Given the description of an element on the screen output the (x, y) to click on. 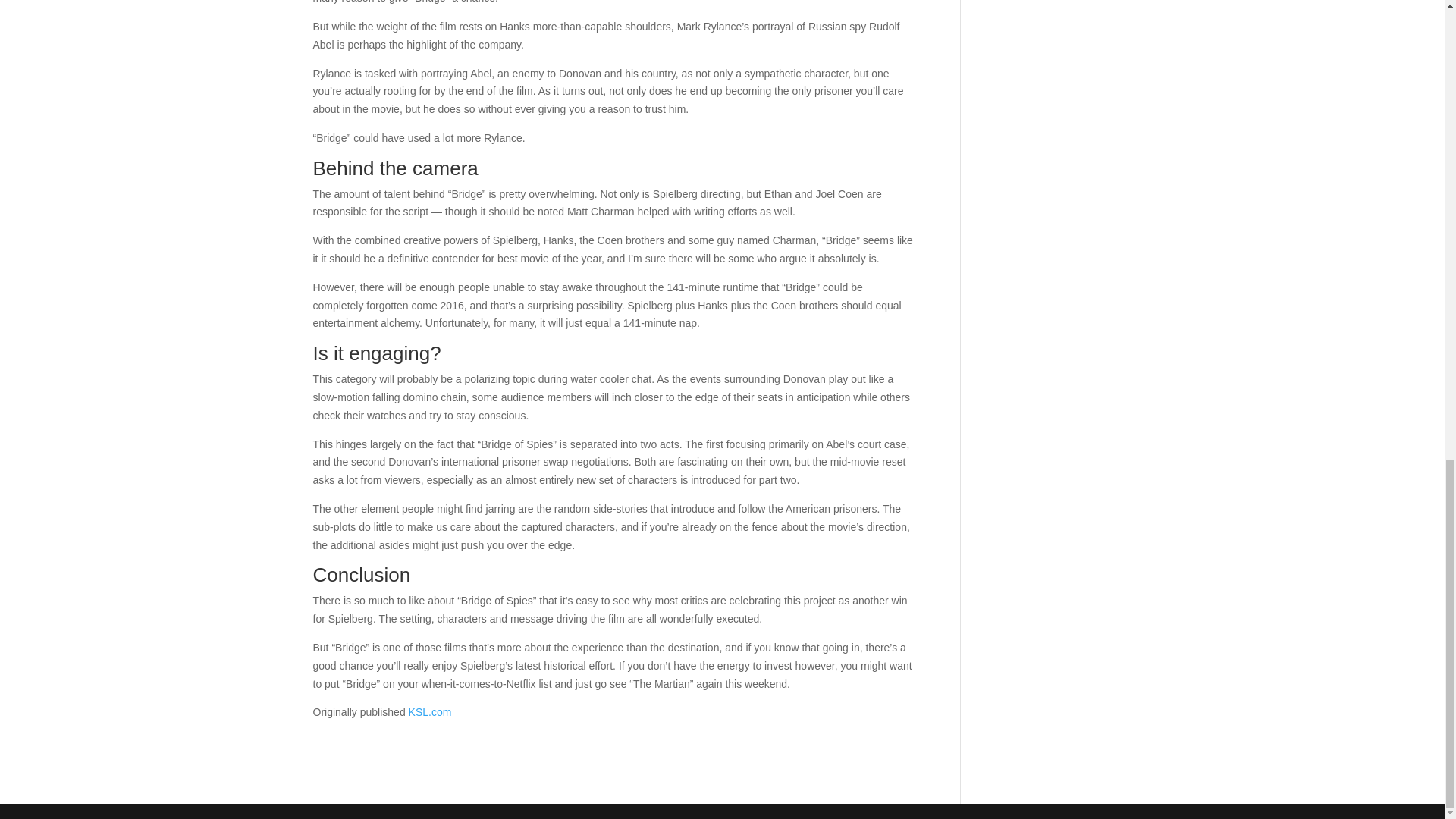
KSL.com (430, 711)
